Given the description of an element on the screen output the (x, y) to click on. 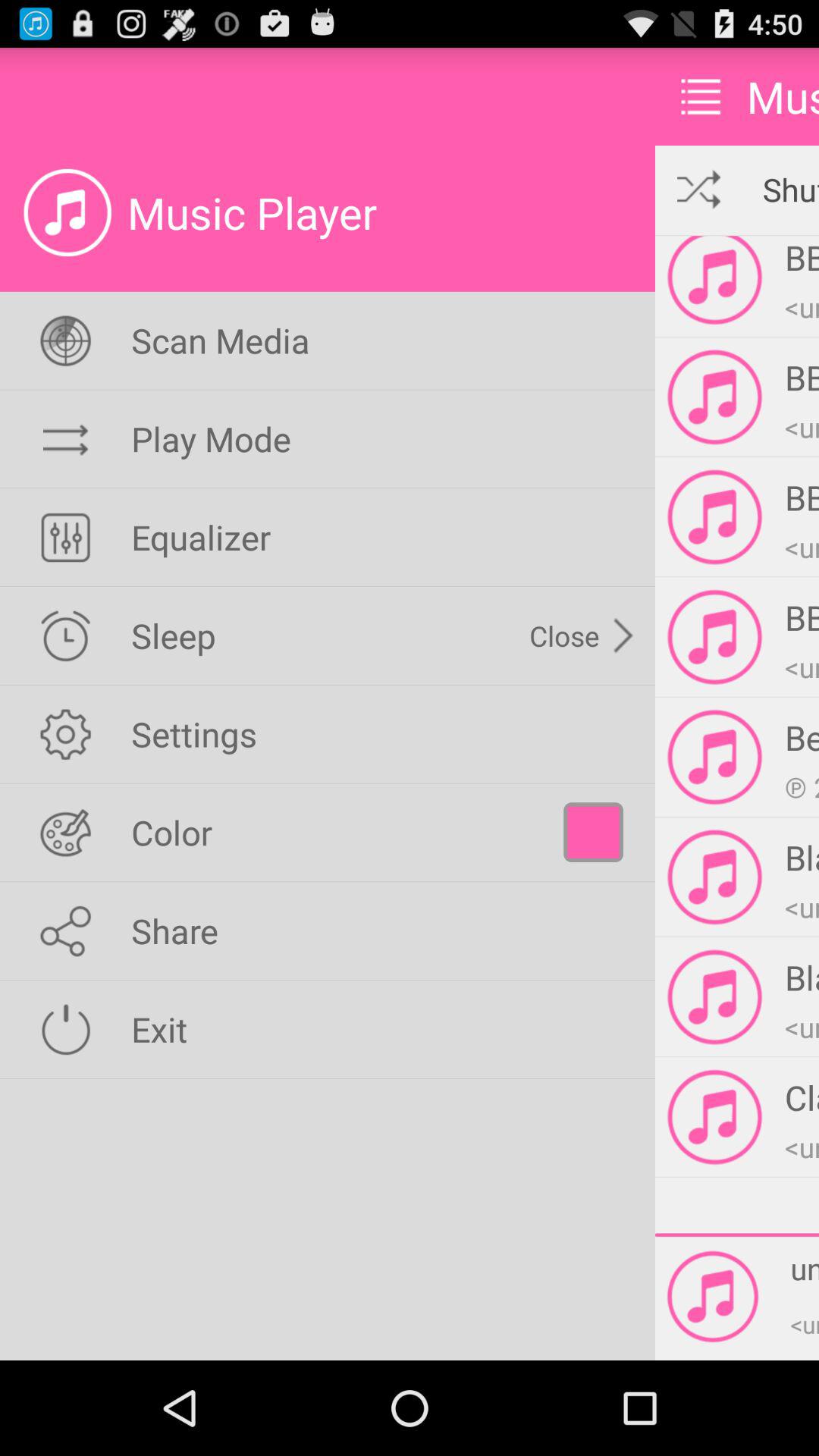
turn on item next to music app (700, 96)
